Given the description of an element on the screen output the (x, y) to click on. 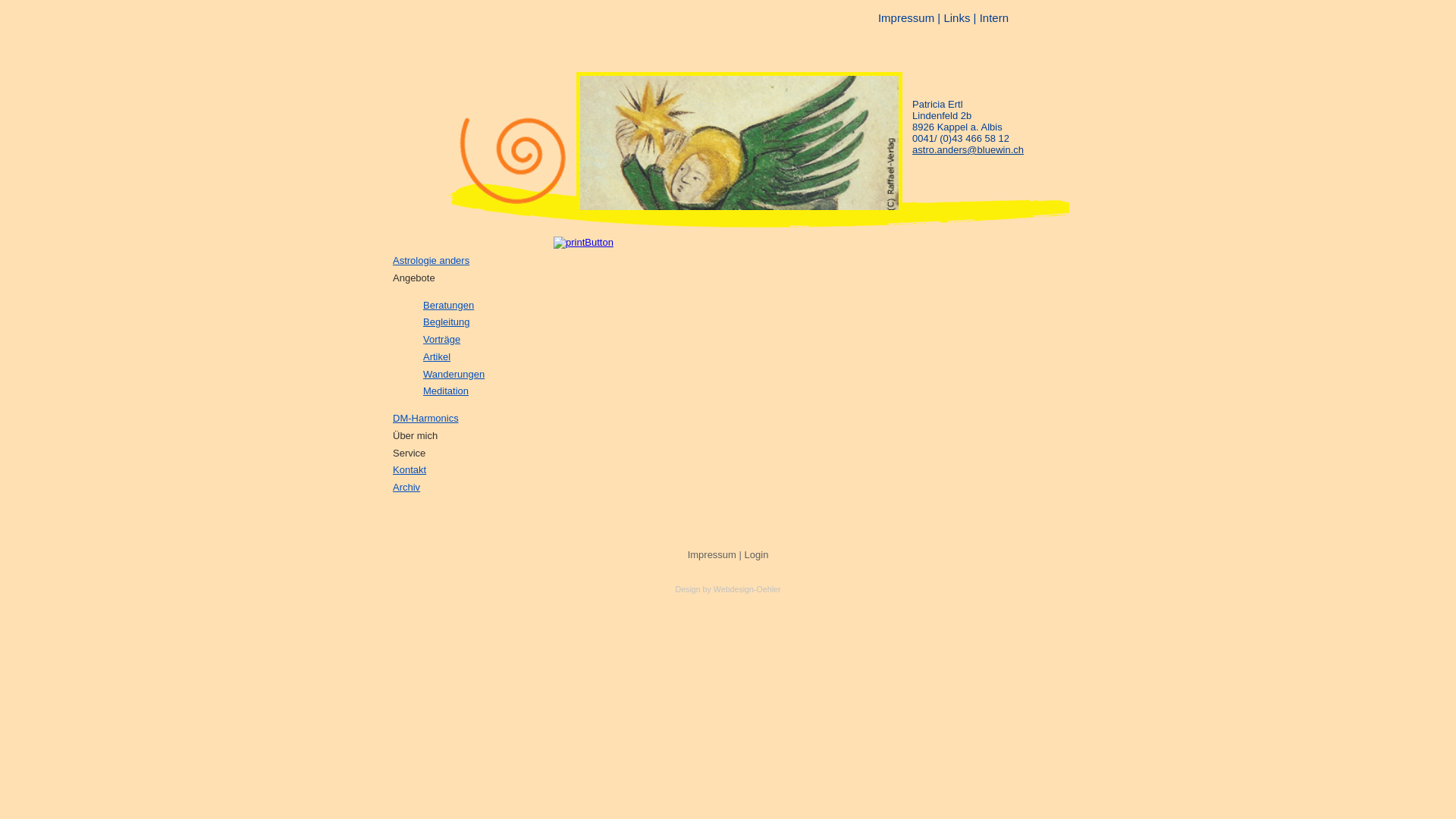
astro.anders@bluewin.ch Element type: text (967, 149)
Impressum Element type: text (906, 17)
Impressum Element type: text (711, 554)
Links Element type: text (956, 17)
Begleitung Element type: text (446, 321)
Intern Element type: text (993, 17)
Astrologie anders Element type: text (430, 260)
Print Element type: hover (583, 241)
Beratungen Element type: text (448, 304)
Wanderungen Element type: text (453, 373)
Webdesign-Oehler Element type: text (747, 588)
Meditation Element type: text (445, 390)
Artikel Element type: text (436, 356)
Kontakt Element type: text (409, 469)
Login Element type: text (756, 554)
DM-Harmonics Element type: text (425, 417)
Archiv Element type: text (406, 486)
